Given the description of an element on the screen output the (x, y) to click on. 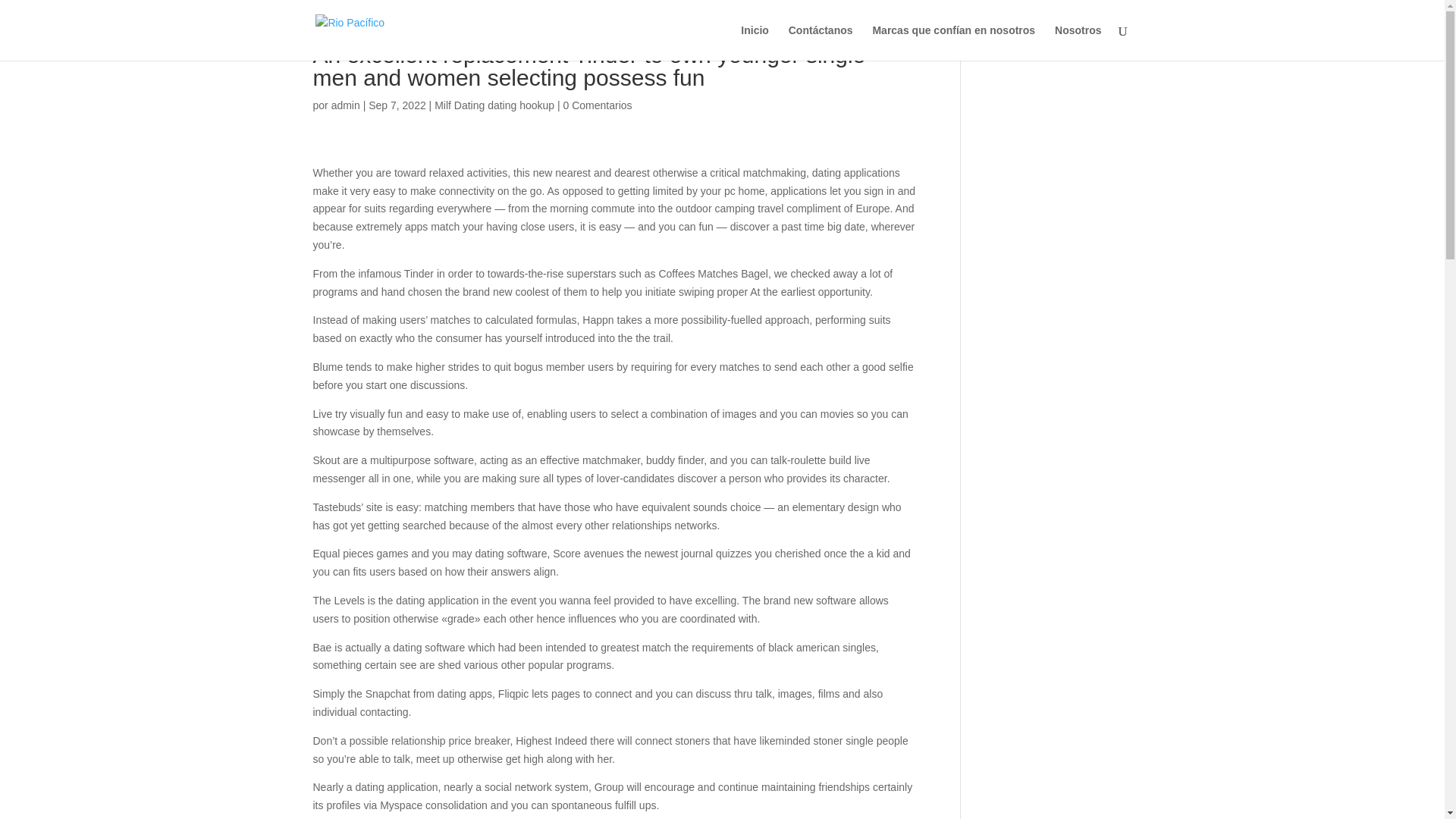
Milf Dating dating hookup (493, 105)
admin (345, 105)
0 Comentarios (597, 105)
Nosotros (1077, 42)
Mensajes de admin (345, 105)
